Given the description of an element on the screen output the (x, y) to click on. 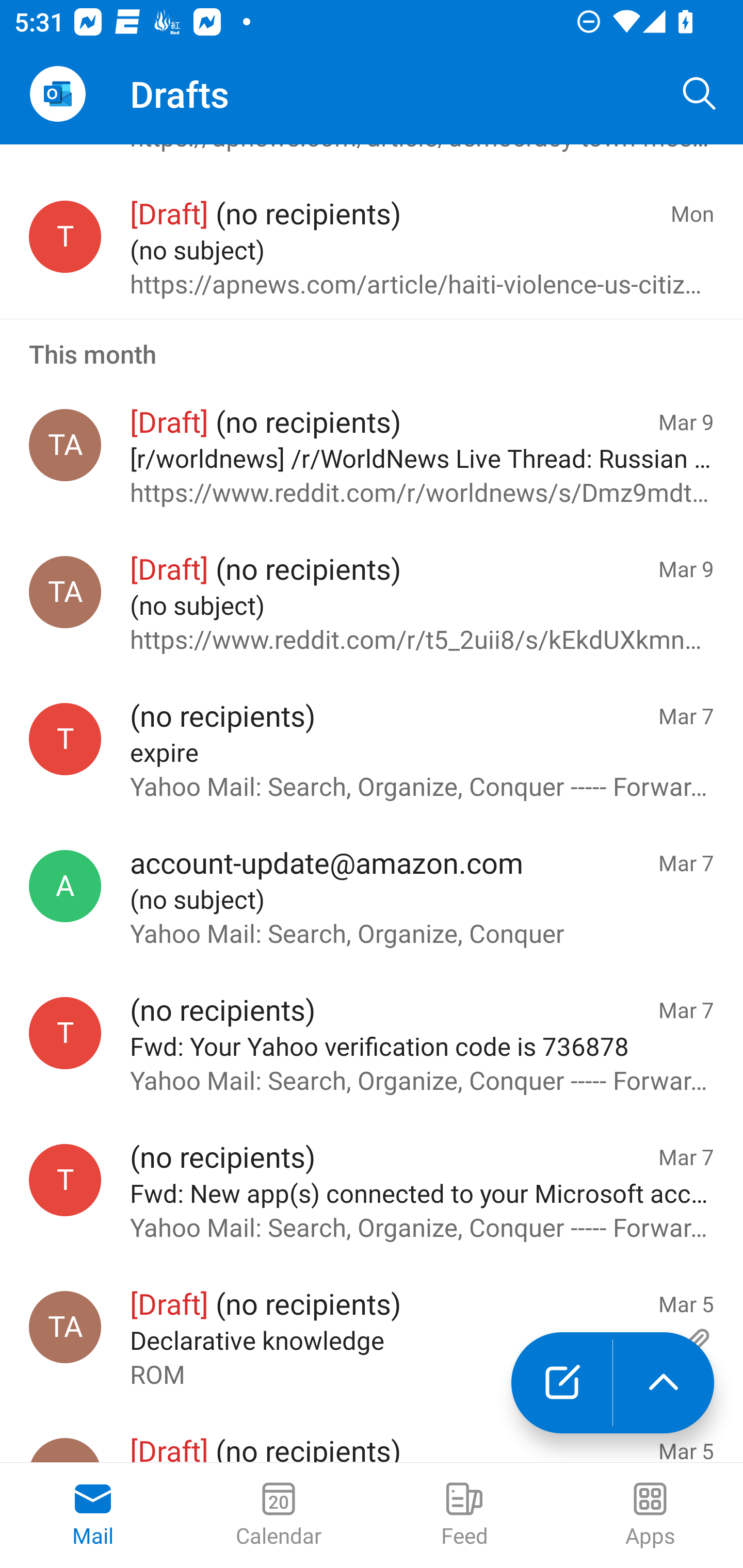
Search, ,  (699, 93)
Open Navigation Drawer (57, 94)
testappium002@outlook.com (64, 236)
Test Appium, testappium002@outlook.com (64, 445)
Test Appium, testappium002@outlook.com (64, 592)
testappium002@outlook.com (64, 738)
testappium002@outlook.com (64, 1033)
testappium002@outlook.com (64, 1180)
Test Appium, testappium002@outlook.com (64, 1326)
New mail (561, 1382)
launch the extended action menu (663, 1382)
Calendar (278, 1515)
Feed (464, 1515)
Apps (650, 1515)
